Given the description of an element on the screen output the (x, y) to click on. 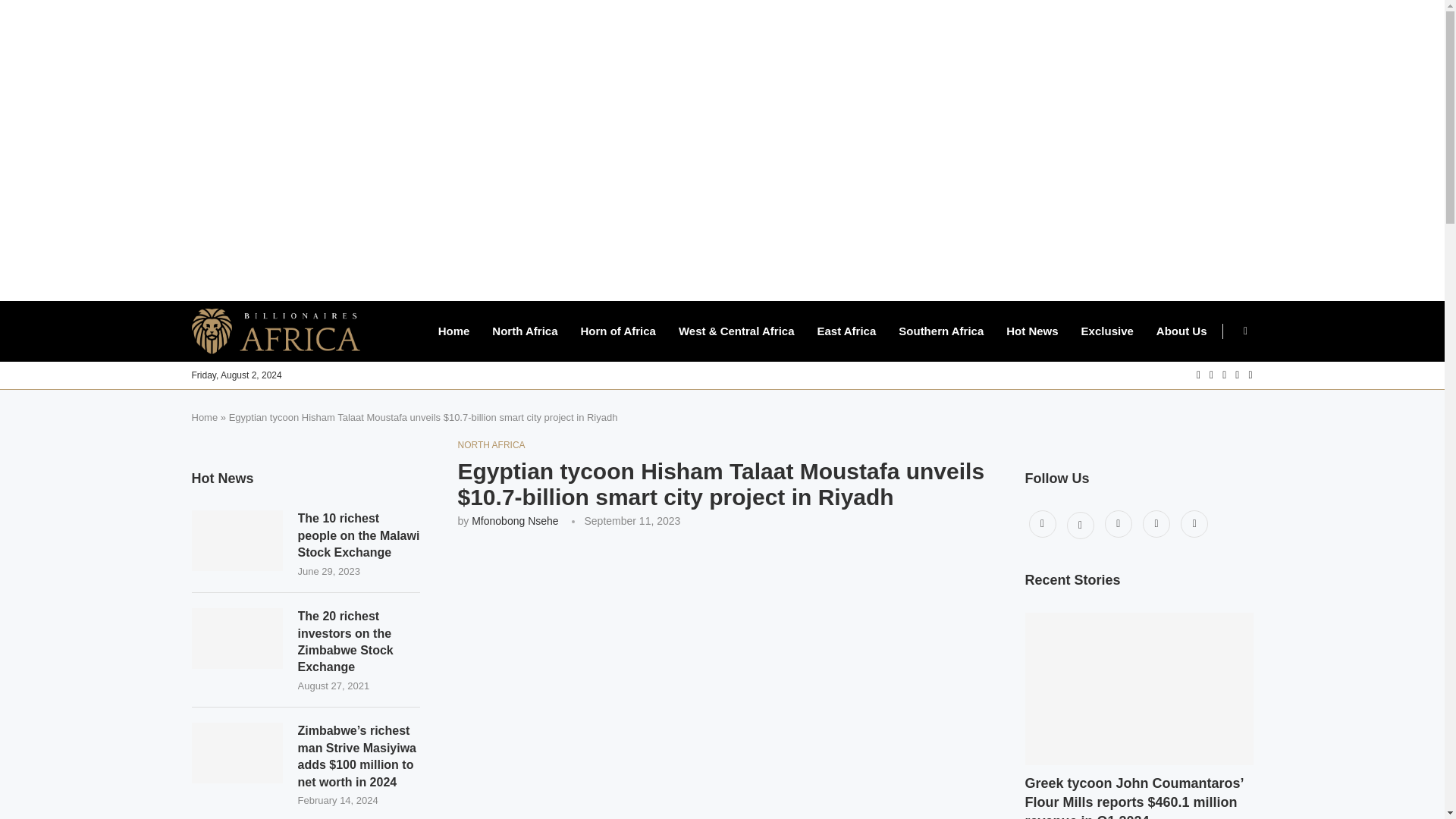
Horn of Africa (617, 330)
Exclusive (1107, 330)
North Africa (524, 330)
Hisham Talaat Moustafa 1 (721, 683)
East Africa (846, 330)
Southern Africa (941, 330)
Hot News (1032, 330)
About Us (1181, 330)
